Given the description of an element on the screen output the (x, y) to click on. 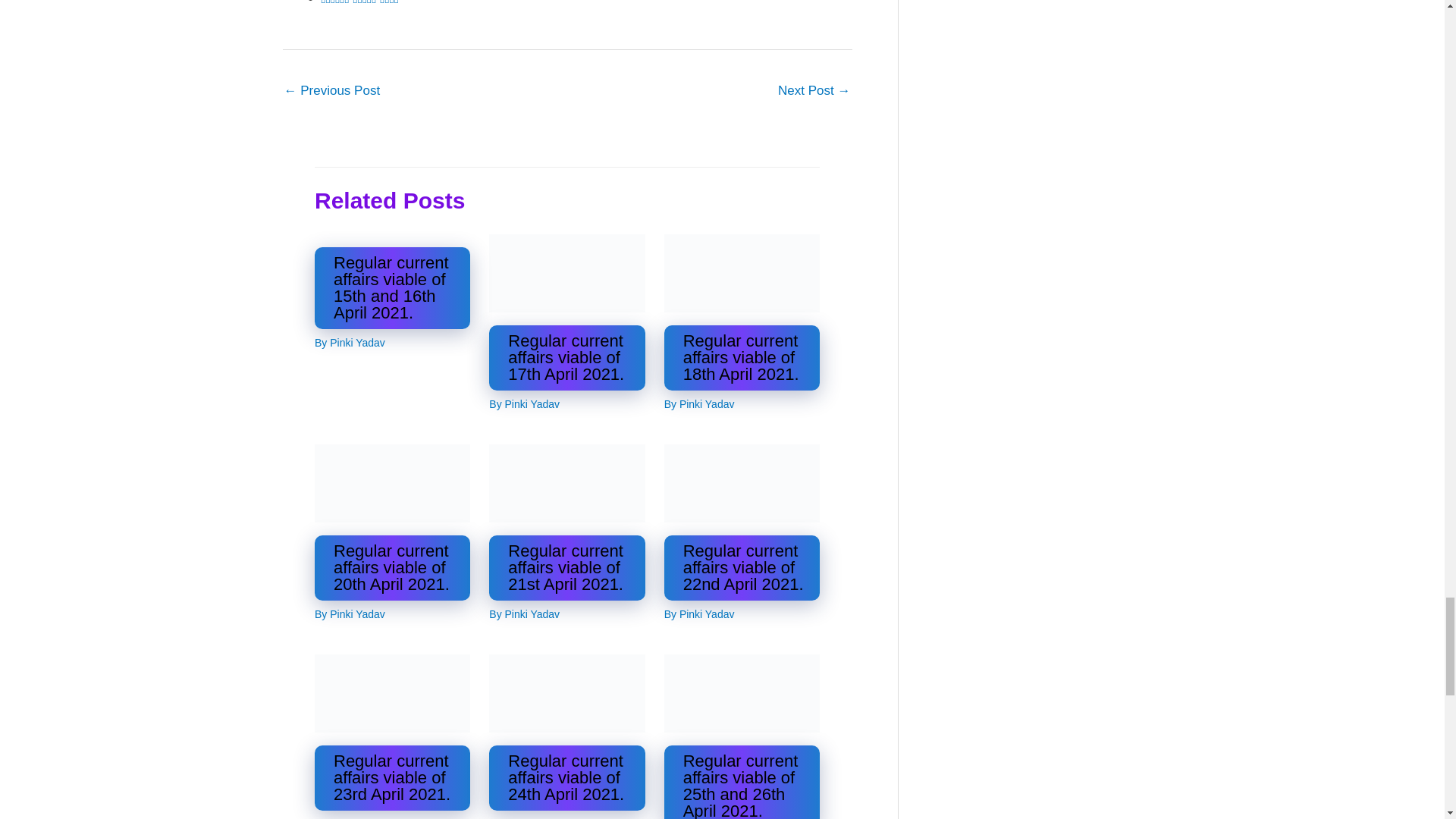
View all posts by Pinki Yadav (357, 613)
View all posts by Pinki Yadav (707, 404)
View all posts by Pinki Yadav (532, 613)
View all posts by Pinki Yadav (532, 404)
View all posts by Pinki Yadav (357, 342)
